Given the description of an element on the screen output the (x, y) to click on. 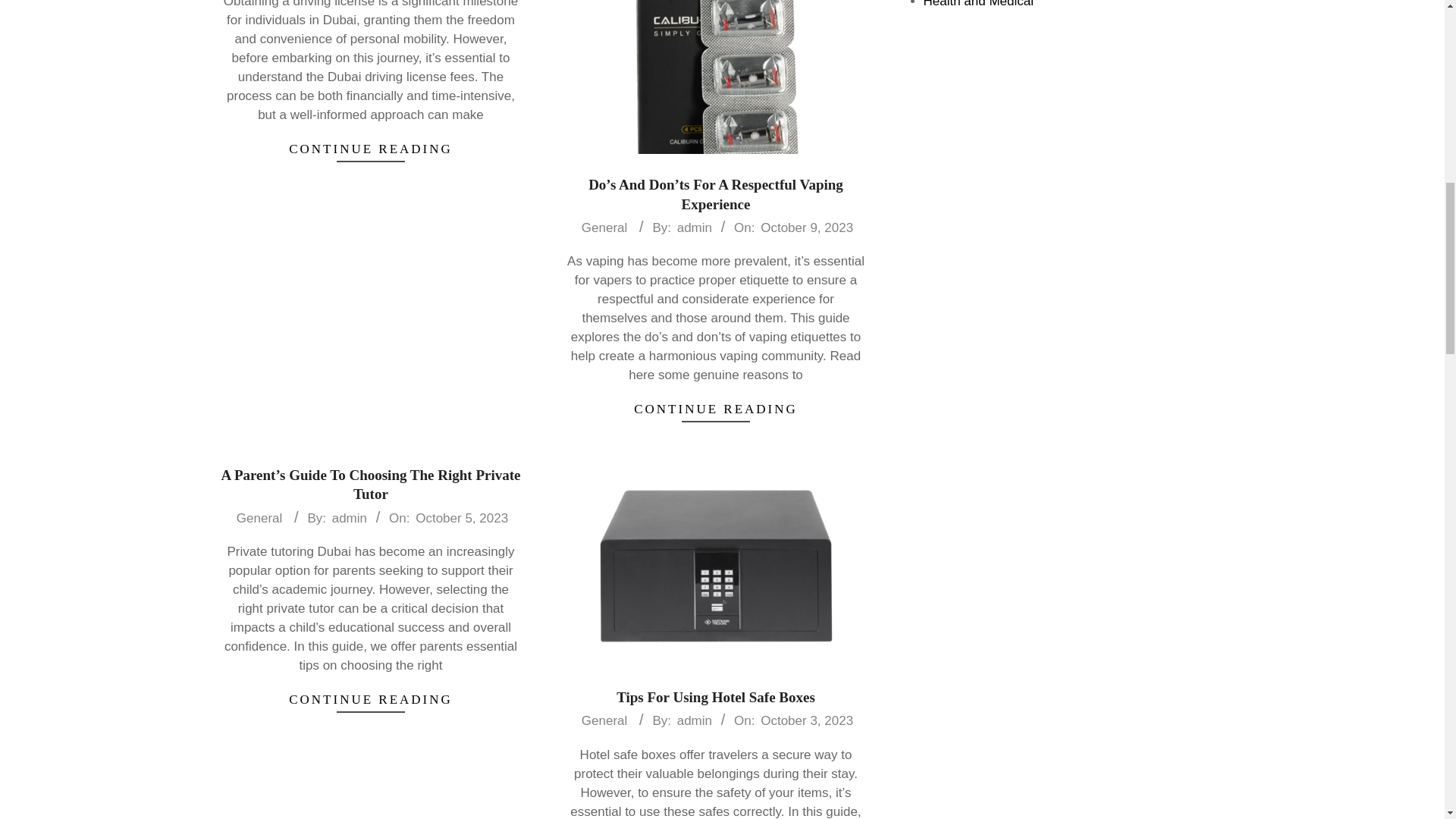
General (604, 720)
CONTINUE READING (715, 408)
Tips For Using Hotel Safe Boxes (715, 697)
Monday, October 9, 2023, 8:35 am (806, 227)
admin (694, 227)
Posts by admin (694, 227)
Tuesday, October 3, 2023, 10:48 am (806, 720)
General (604, 228)
CONTINUE READING (371, 148)
Posts by admin (694, 720)
admin (694, 720)
Thursday, October 5, 2023, 12:12 pm (461, 518)
admin (348, 518)
General (258, 518)
Posts by admin (348, 518)
